Given the description of an element on the screen output the (x, y) to click on. 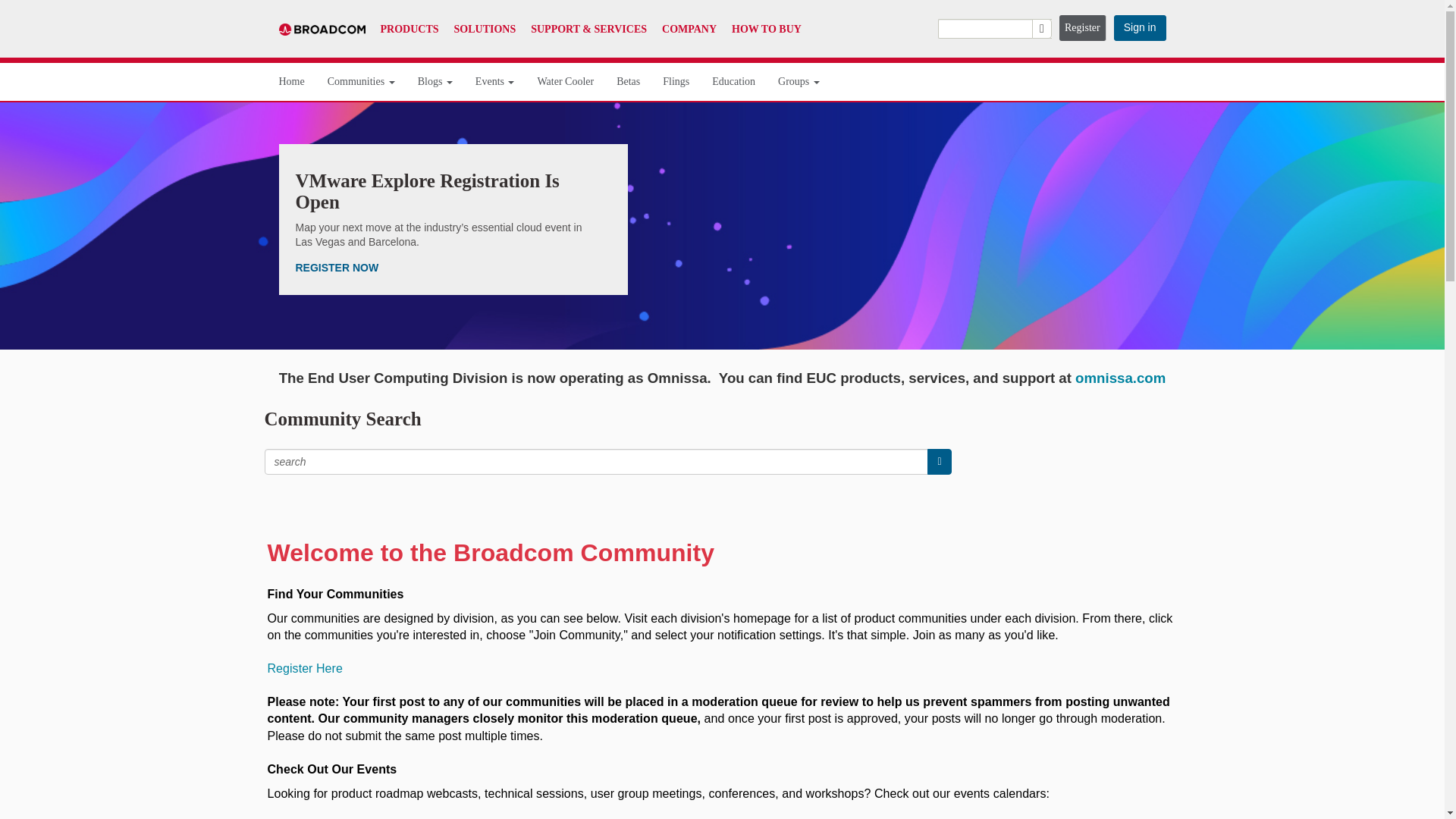
search term input (595, 461)
Register (1082, 27)
Water Cooler (565, 81)
search (994, 28)
SOLUTIONS (485, 29)
COMPANY (689, 29)
HOW TO BUY (767, 29)
Blogs (434, 81)
Communities (360, 81)
Sign in (1139, 27)
search (938, 461)
PRODUCTS (409, 29)
Events (495, 81)
